Given the description of an element on the screen output the (x, y) to click on. 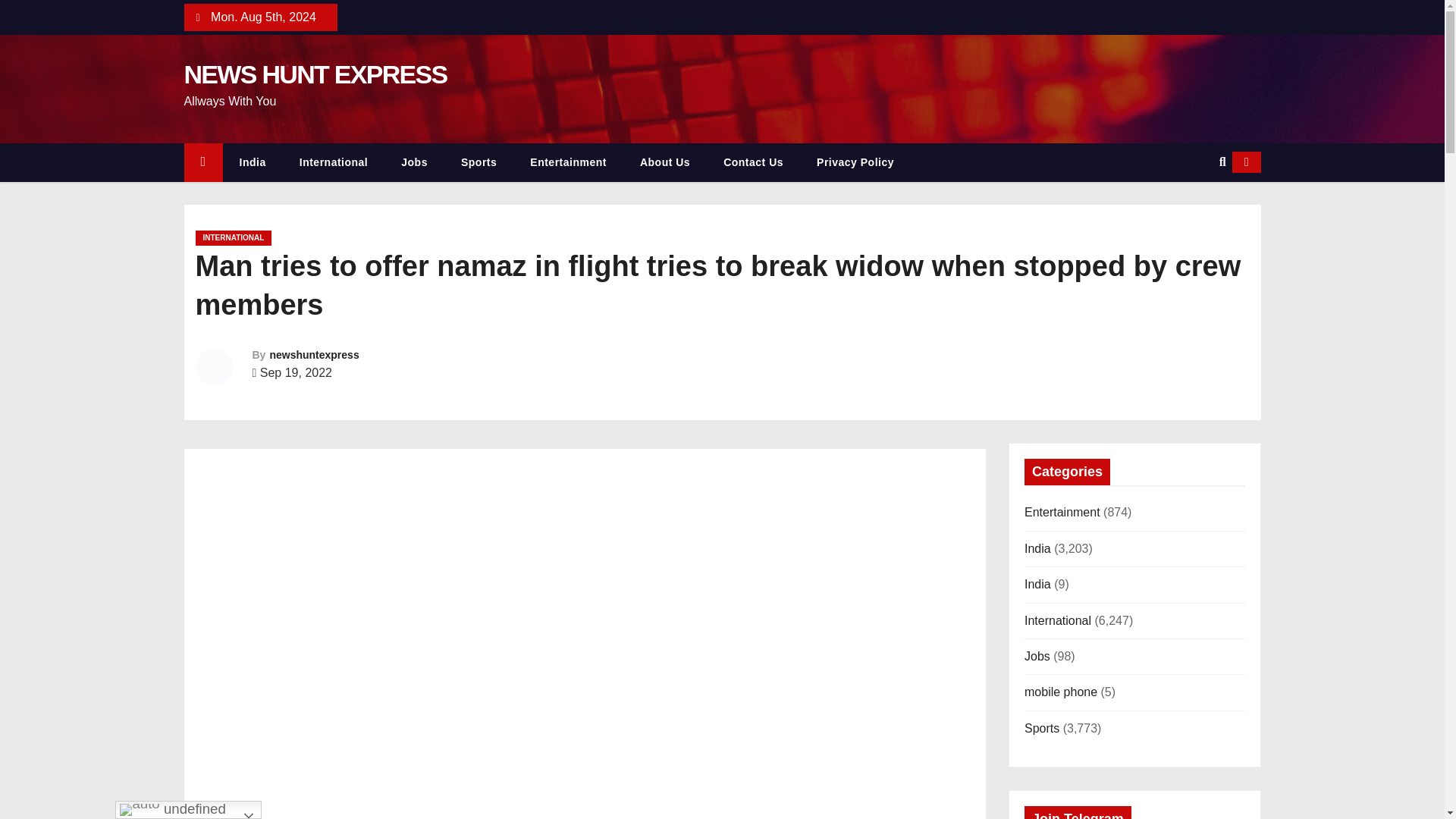
Jobs (414, 162)
International (333, 162)
Contact Us (752, 162)
newshuntexpress (313, 354)
Entertainment (568, 162)
India (252, 162)
Home (202, 162)
About Us (664, 162)
Sports (478, 162)
Privacy Policy (855, 162)
Entertainment (568, 162)
NEWS HUNT EXPRESS (314, 73)
Privacy Policy (855, 162)
Sports (478, 162)
Contact Us (752, 162)
